Given the description of an element on the screen output the (x, y) to click on. 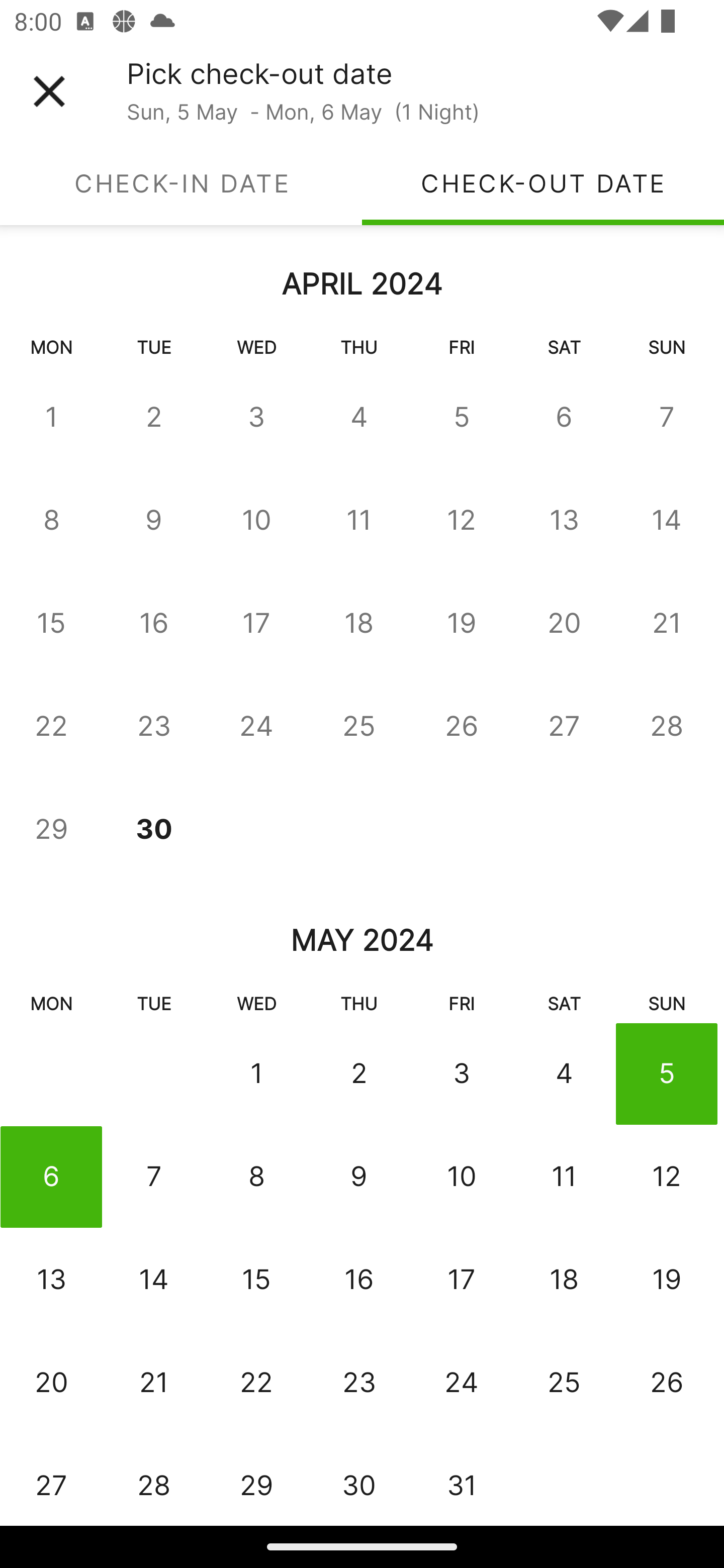
Check-in Date CHECK-IN DATE (181, 183)
